Given the description of an element on the screen output the (x, y) to click on. 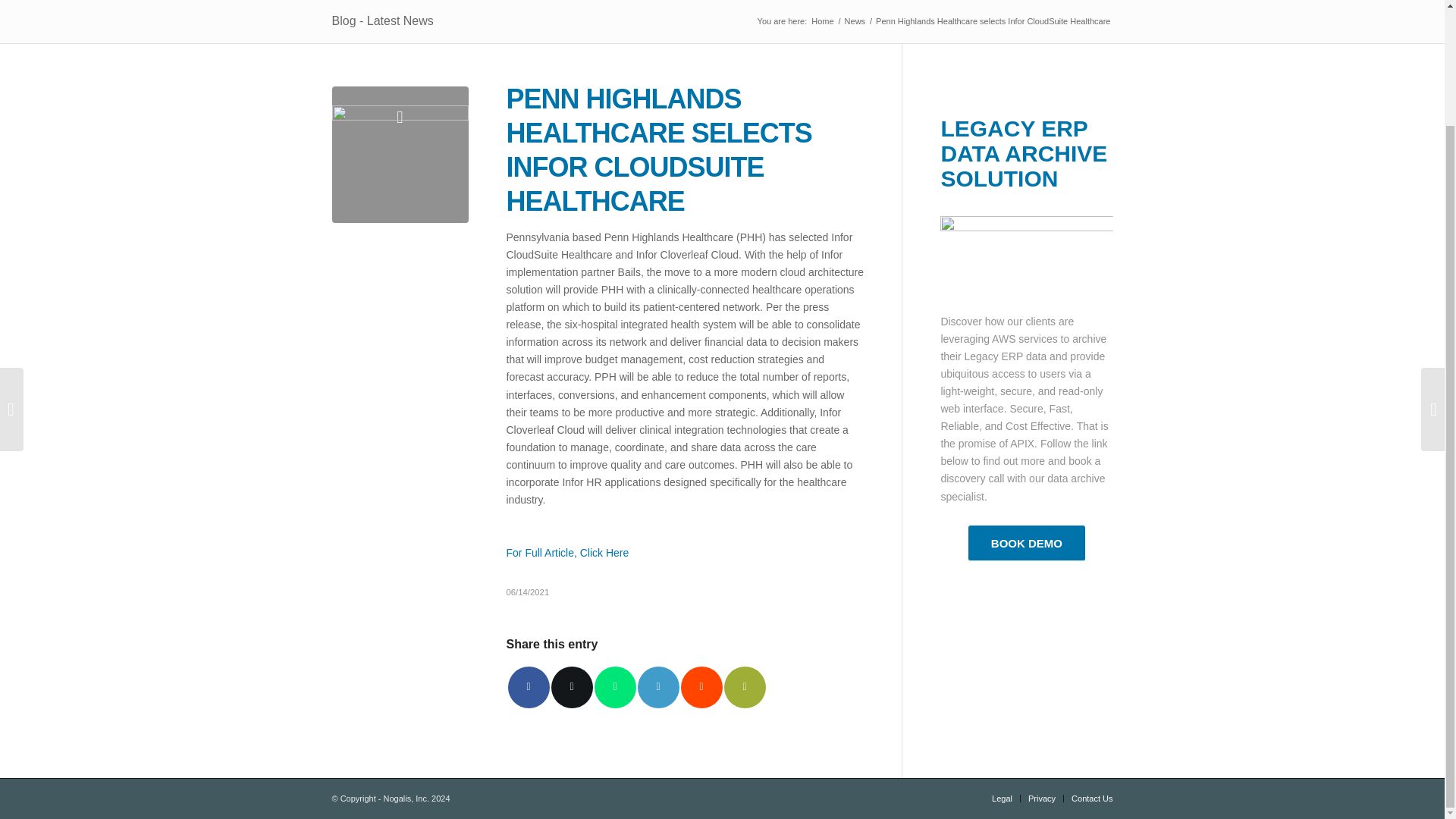
Nogalis, Inc. (822, 21)
Permanent Link: Blog - Latest News (382, 20)
For Full Article, Click Here (567, 552)
Blog - Latest News (382, 20)
News (855, 21)
Book a time to discuss your project with an expert (1026, 543)
Home (822, 21)
LEGACY ERP DATA ARCHIVE SOLUTION (1023, 153)
Contact Us (1091, 798)
BOOK DEMO (1026, 543)
